Given the description of an element on the screen output the (x, y) to click on. 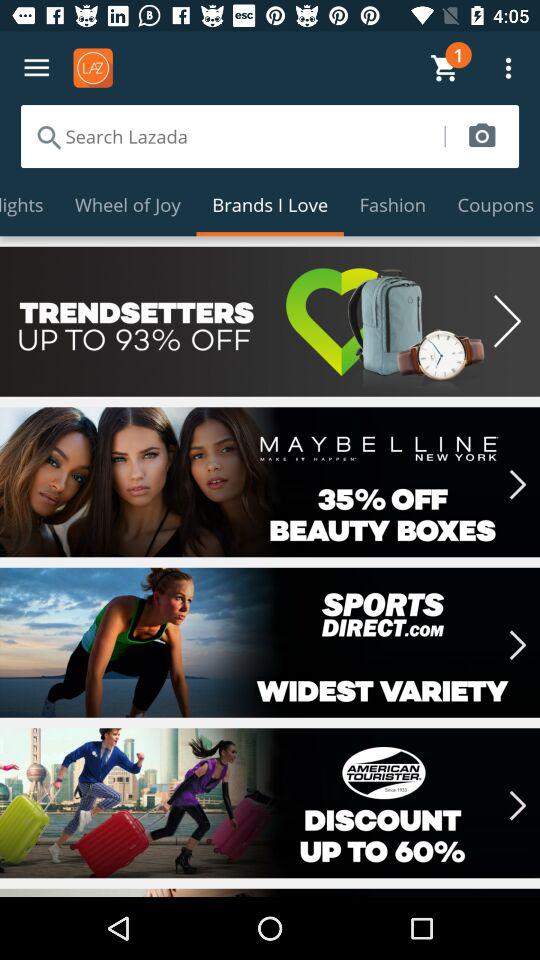
shortcut to brand page (270, 803)
